Given the description of an element on the screen output the (x, y) to click on. 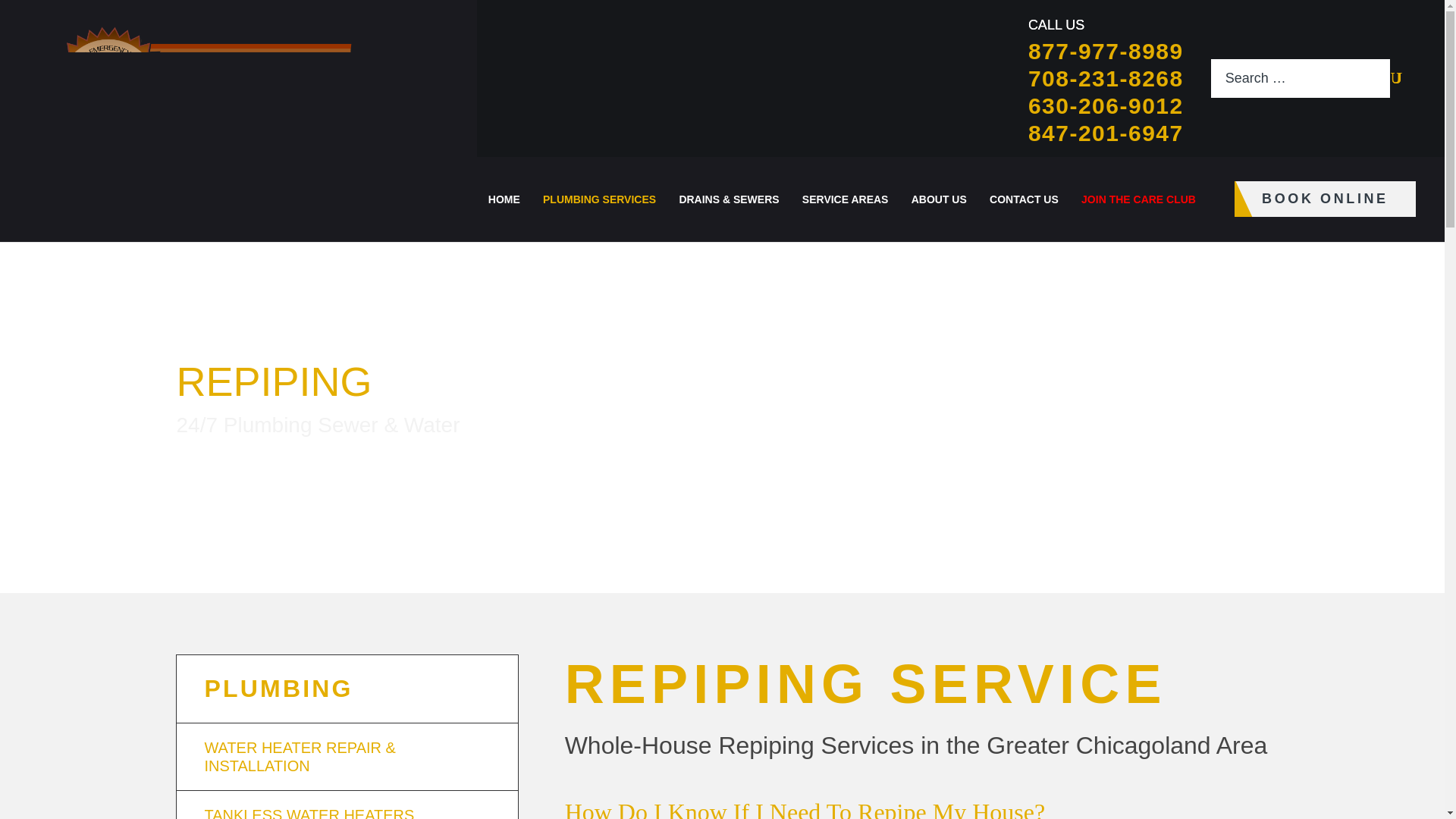
SERVICE AREAS (844, 199)
PLUMBING SERVICES (598, 199)
TANKLESS WATER HEATERS (346, 805)
CONTACT US (1024, 199)
PLUMBING (353, 688)
ABOUT US (938, 199)
Search for: (1300, 78)
JOIN THE CARE CLUB (1138, 199)
